Given the description of an element on the screen output the (x, y) to click on. 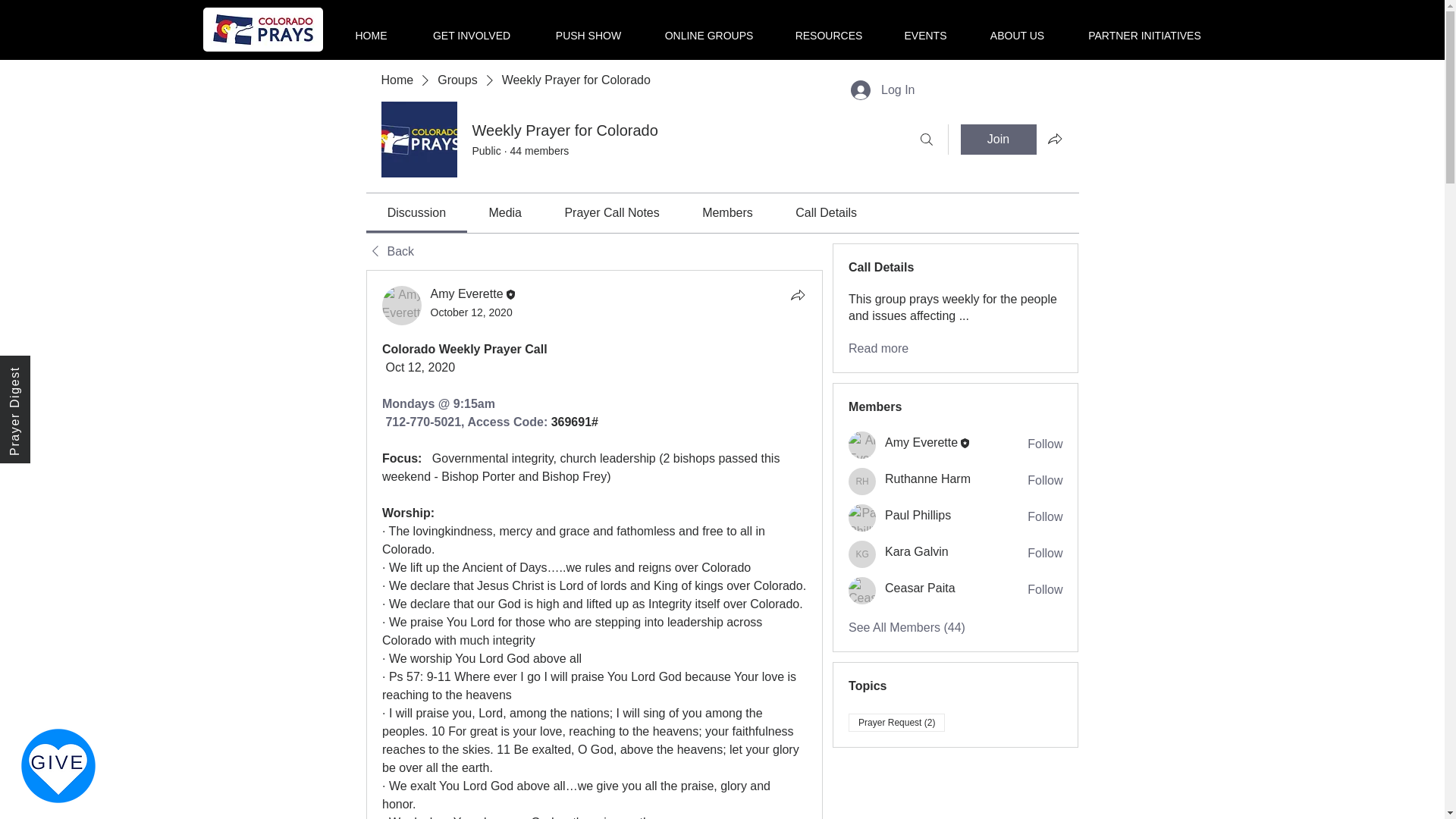
Prayer Digest (53, 370)
ONLINE GROUPS (708, 29)
Join (997, 139)
Ceasar Paita (862, 590)
712-770-5021, Access Code:  (467, 421)
DONATE NOW (57, 765)
Amy Everette (466, 293)
Kara Galvin (862, 554)
October 12, 2020 (471, 312)
Paul Phillips (862, 517)
Home (396, 80)
Back (389, 251)
Groups (457, 80)
Amy Everette (401, 305)
HOME (370, 29)
